Given the description of an element on the screen output the (x, y) to click on. 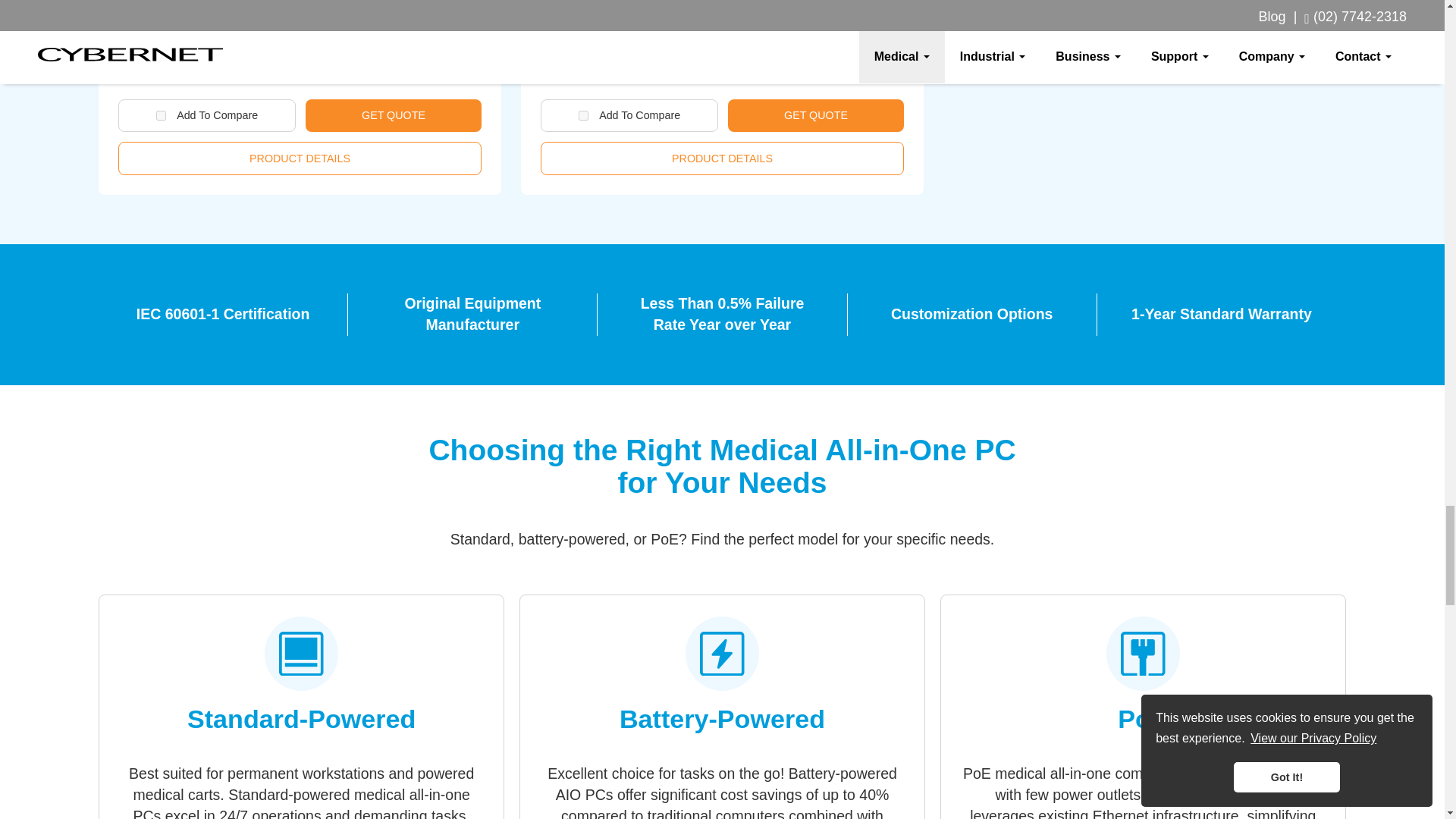
296 (160, 115)
258 (583, 115)
